Given the description of an element on the screen output the (x, y) to click on. 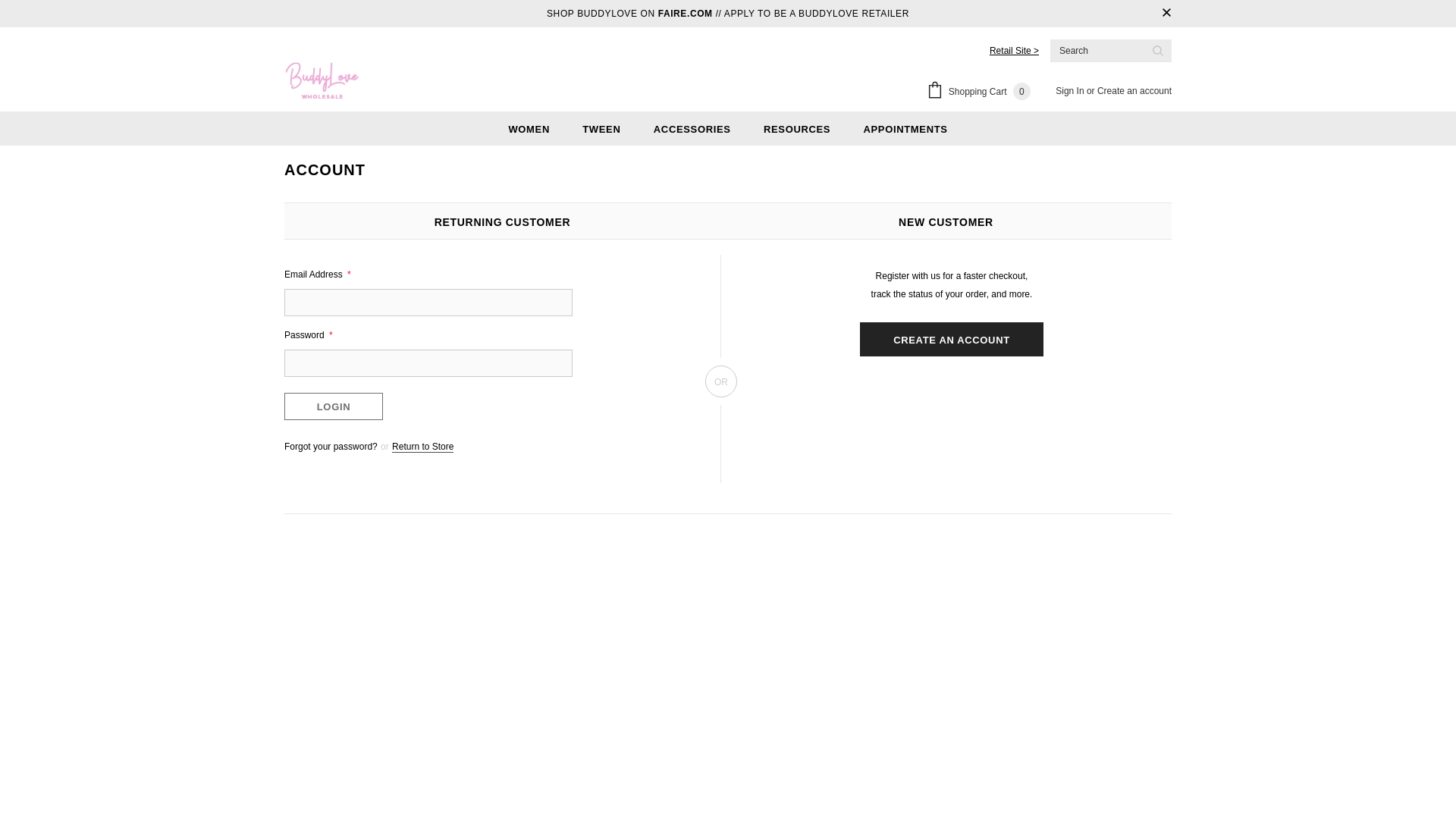
WOMEN (529, 128)
Shopping Cart 0 (981, 92)
SHOP BUDDYLOVE ON FAIRE.COM (630, 13)
Create an account (1134, 90)
close (1165, 13)
Sign In (1070, 90)
APPLY TO BE A BUDDYLOVE RETAILER (815, 13)
Login (332, 406)
